Given the description of an element on the screen output the (x, y) to click on. 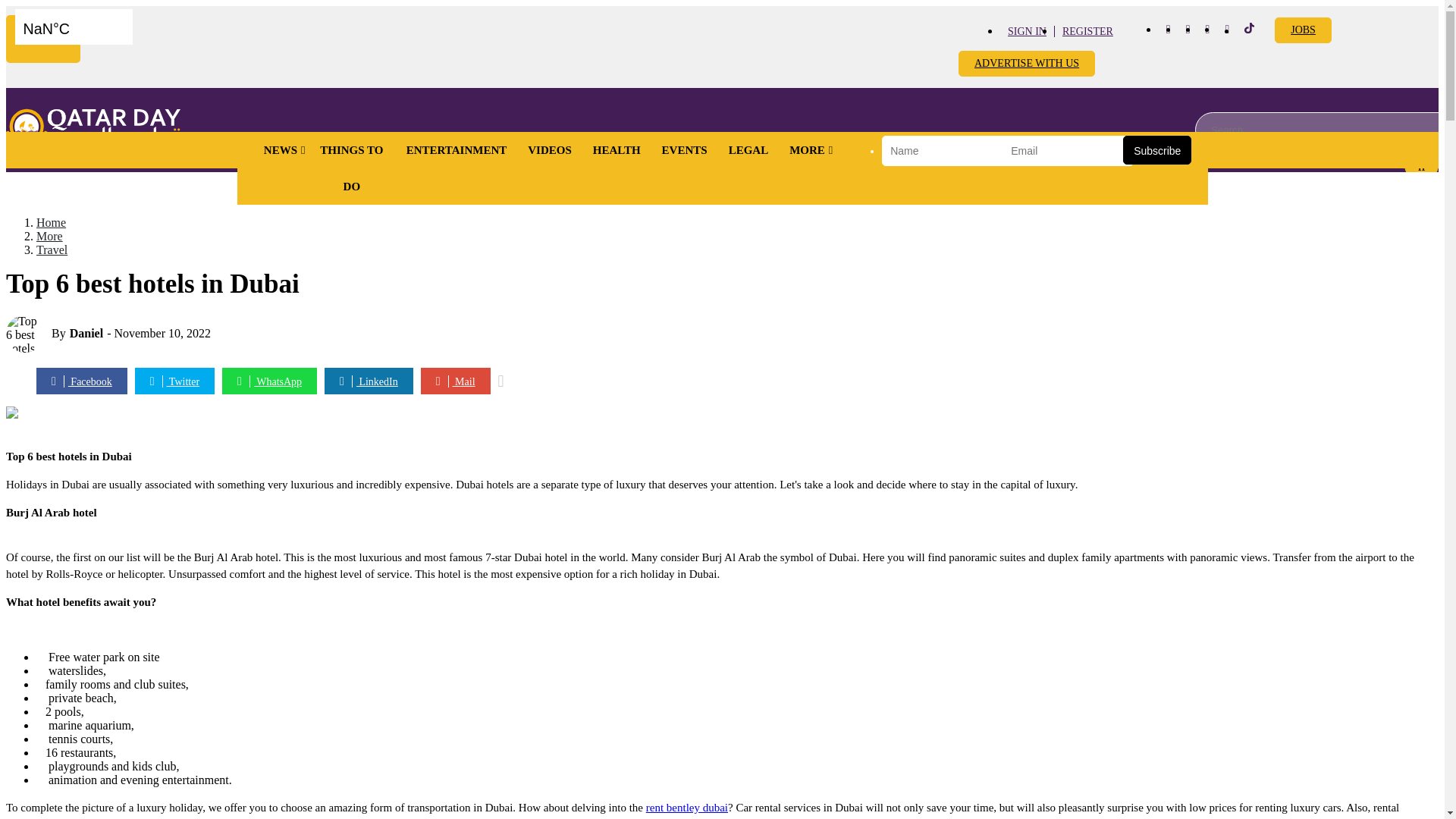
Advertise (1303, 30)
Instagram (1187, 29)
NEWS (280, 149)
Youtube (1207, 29)
SIGN IN (1027, 30)
Home (92, 129)
ADVERTISE WITH US (1026, 63)
Facebook (1167, 29)
THINGS TO DO (351, 167)
Register (1087, 30)
